Given the description of an element on the screen output the (x, y) to click on. 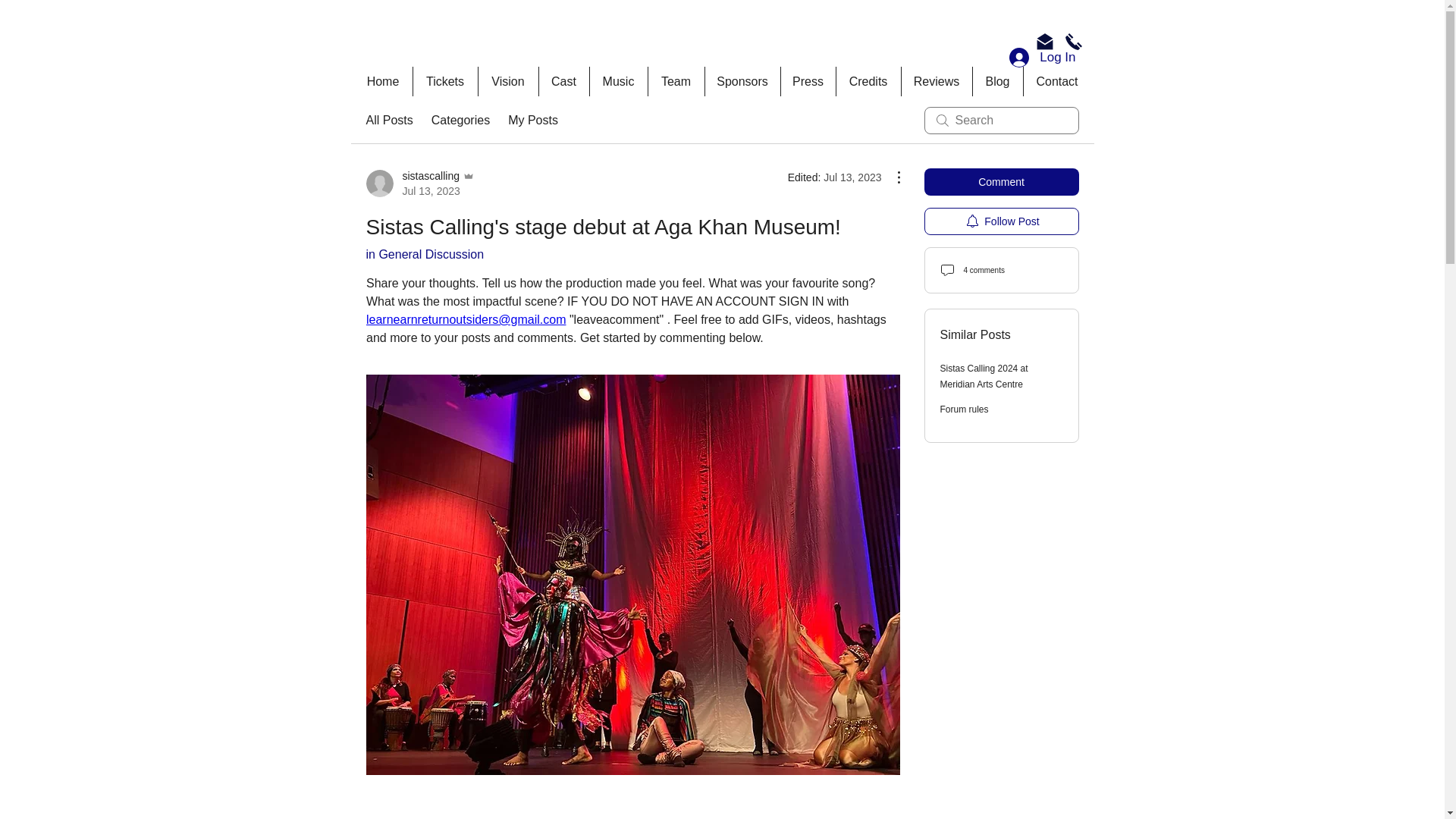
Sponsors (740, 81)
Contact (1056, 81)
All Posts (388, 120)
Categories (459, 120)
Log In (1042, 57)
Tickets (444, 81)
My Posts (532, 120)
Cast (563, 81)
Vision (507, 81)
Team (419, 183)
in General Discussion (675, 81)
Press (424, 254)
Credits (806, 81)
Blog (868, 81)
